Given the description of an element on the screen output the (x, y) to click on. 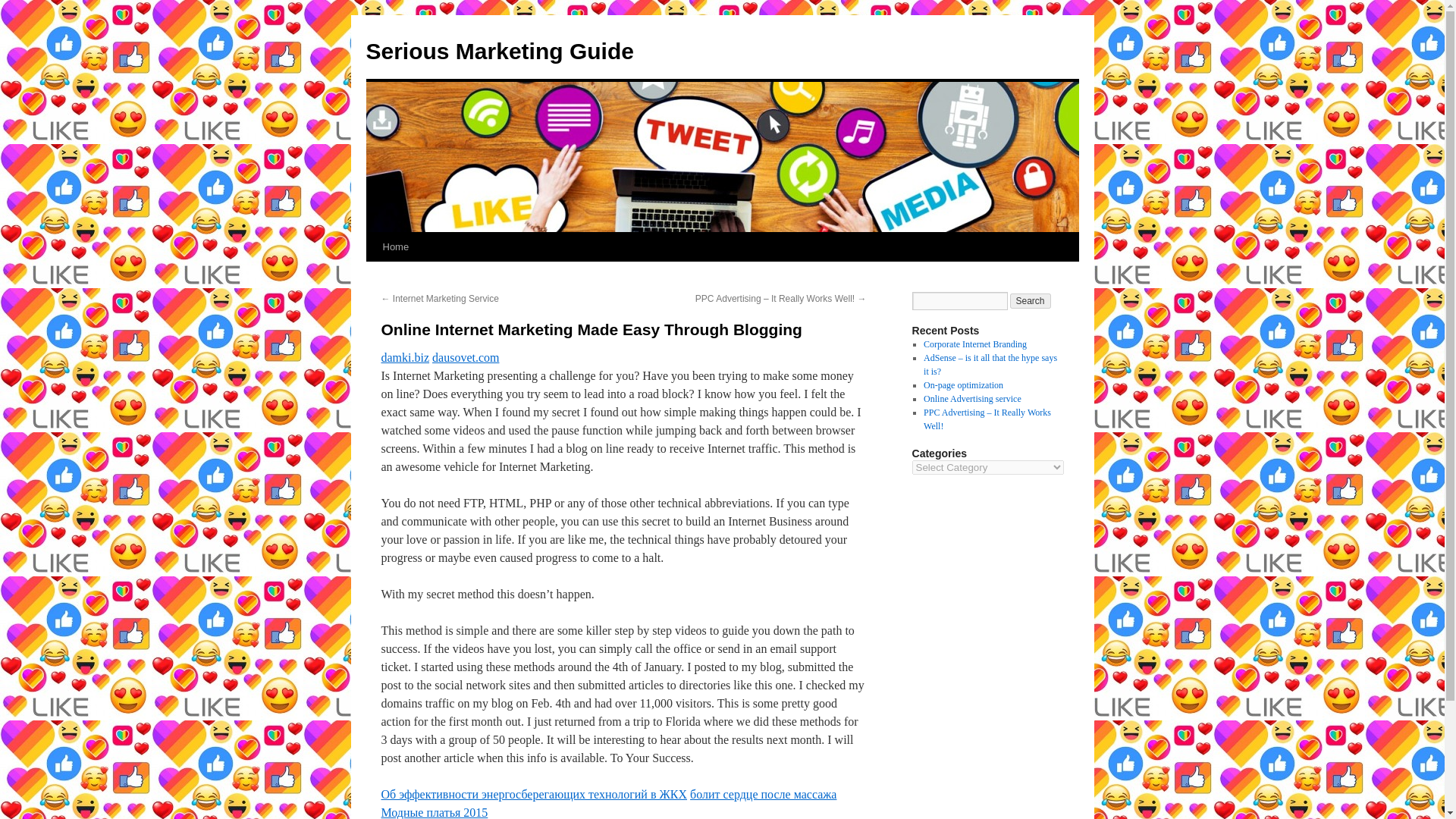
Online Advertising service (972, 398)
Serious Marketing Guide (499, 50)
Search (1030, 300)
On-page optimization (963, 385)
dausovet.com (465, 357)
Serious Marketing Guide (499, 50)
Search (1030, 300)
Home (395, 246)
damki.biz (404, 357)
Corporate Internet Branding (974, 344)
